Given the description of an element on the screen output the (x, y) to click on. 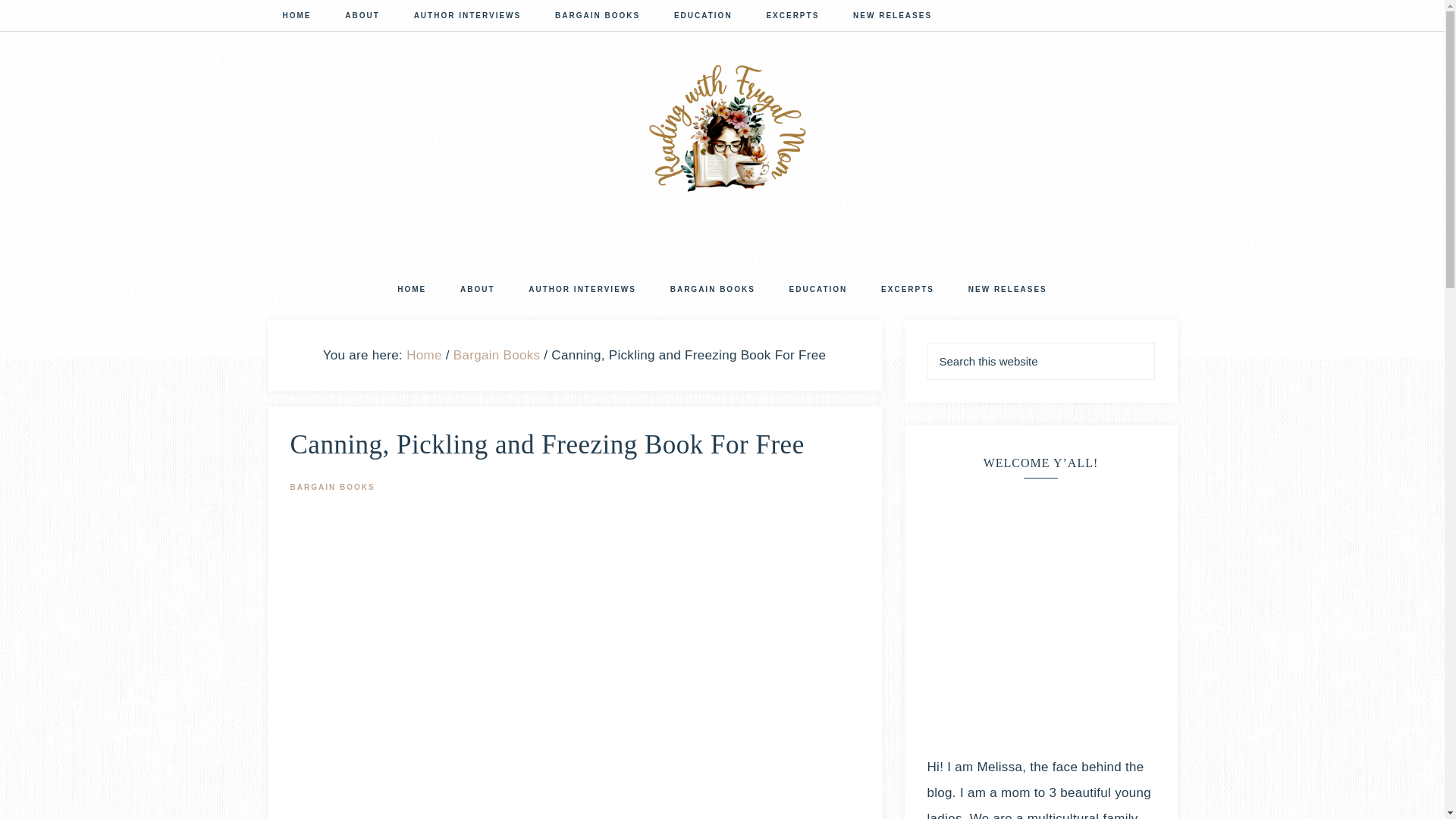
EDUCATION (703, 17)
ABOUT (362, 17)
HOME (296, 17)
ABOUT (478, 289)
EXCERPTS (792, 17)
Bargain Books (496, 354)
Home (424, 354)
EDUCATION (818, 289)
BARGAIN BOOKS (331, 486)
EXCERPTS (907, 289)
NEW RELEASES (1007, 289)
NEW RELEASES (892, 17)
